Given the description of an element on the screen output the (x, y) to click on. 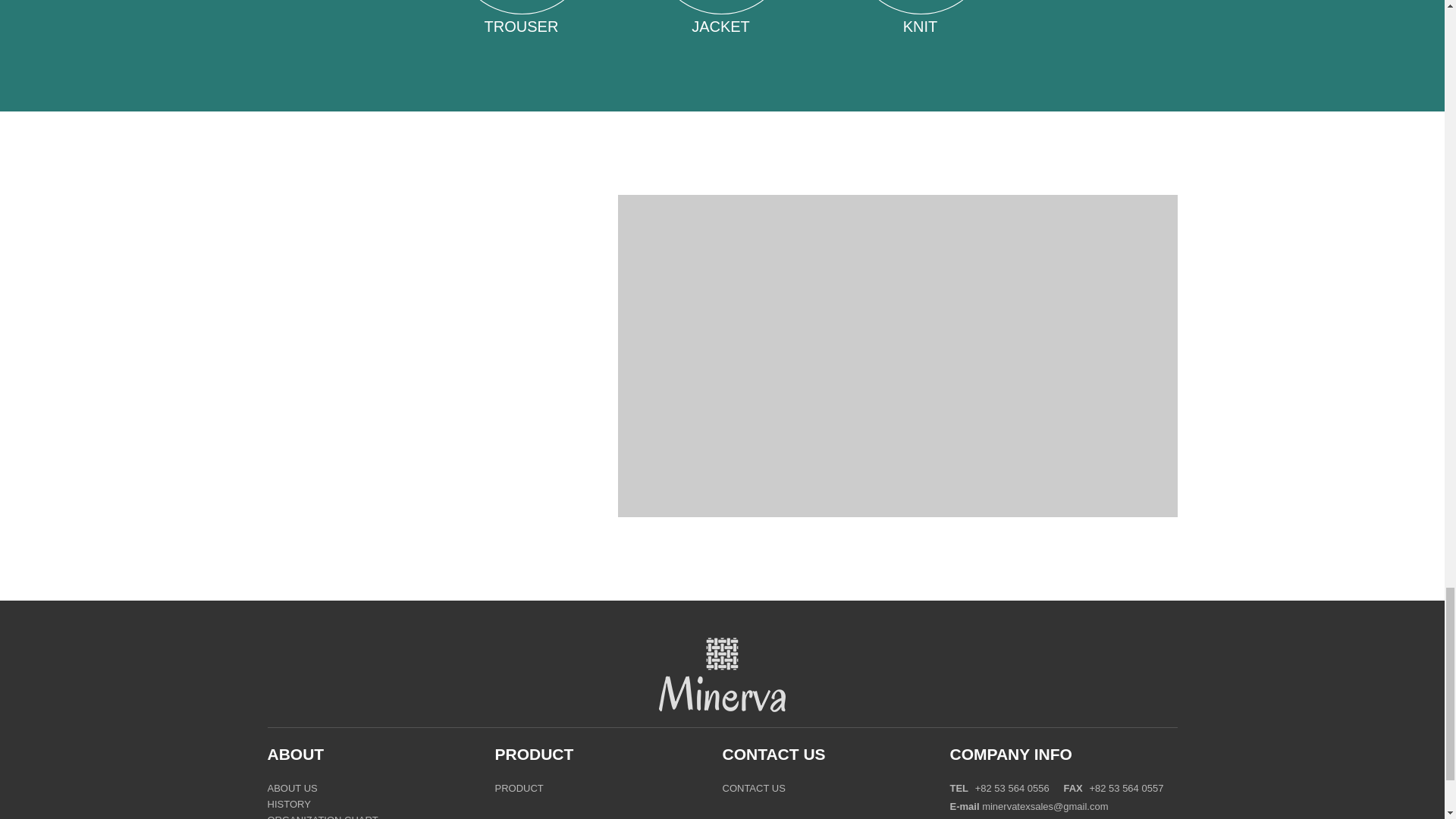
ORGANIZATION CHART (321, 816)
ABOUT US (291, 788)
PRODUCT (519, 788)
ABOUT (294, 754)
CONTACT US (753, 788)
CONTACT US (773, 754)
ONLINE CONSULTING (349, 454)
HISTORY (288, 804)
PRODUCT (534, 754)
COMPANY INFO (1010, 754)
